Given the description of an element on the screen output the (x, y) to click on. 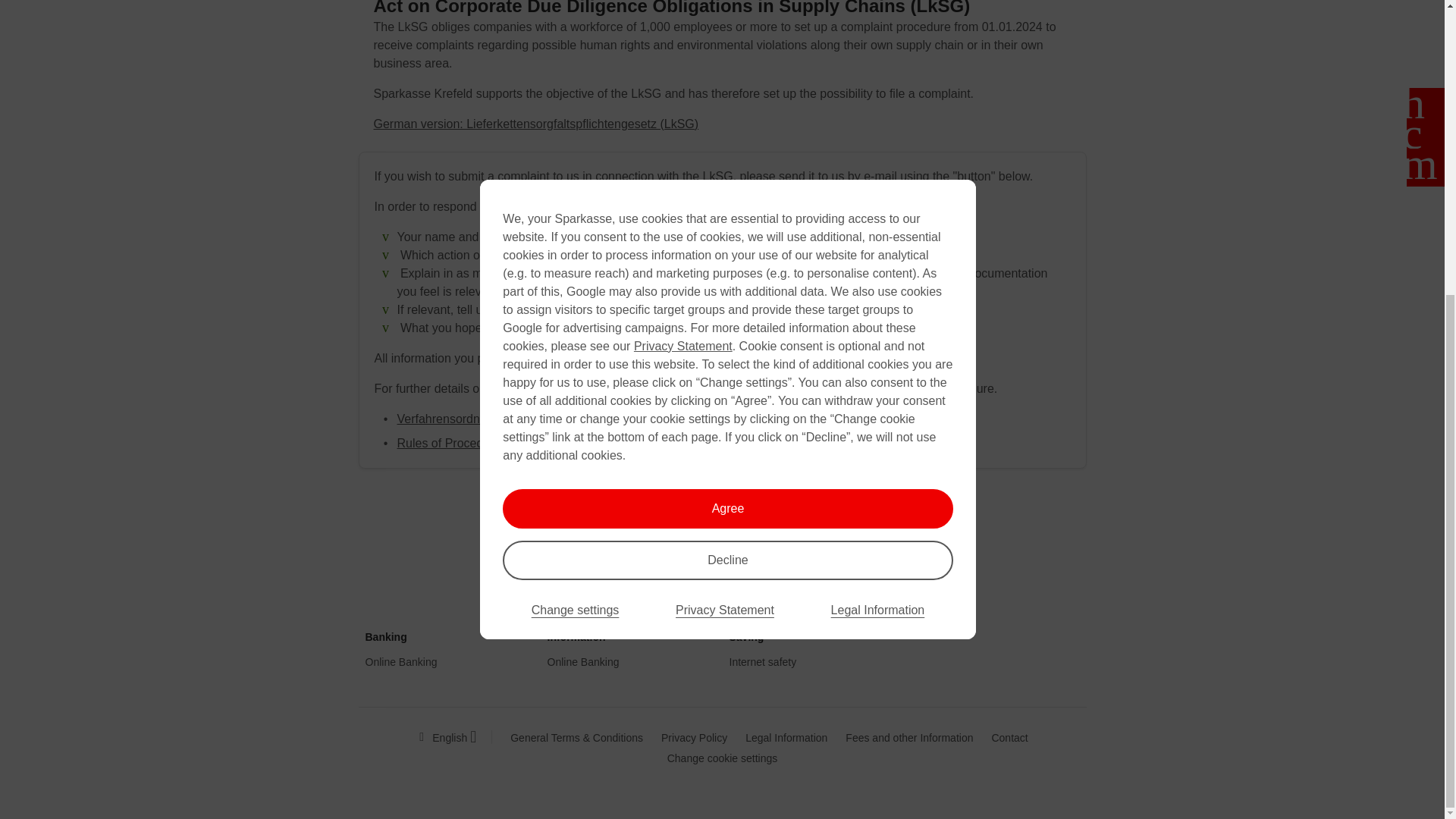
submit a compliant (722, 522)
Privacy Statement (724, 156)
Legal Information (877, 156)
Agree (727, 55)
Change settings (575, 156)
submit a compliant (722, 522)
Decline (727, 106)
